Given the description of an element on the screen output the (x, y) to click on. 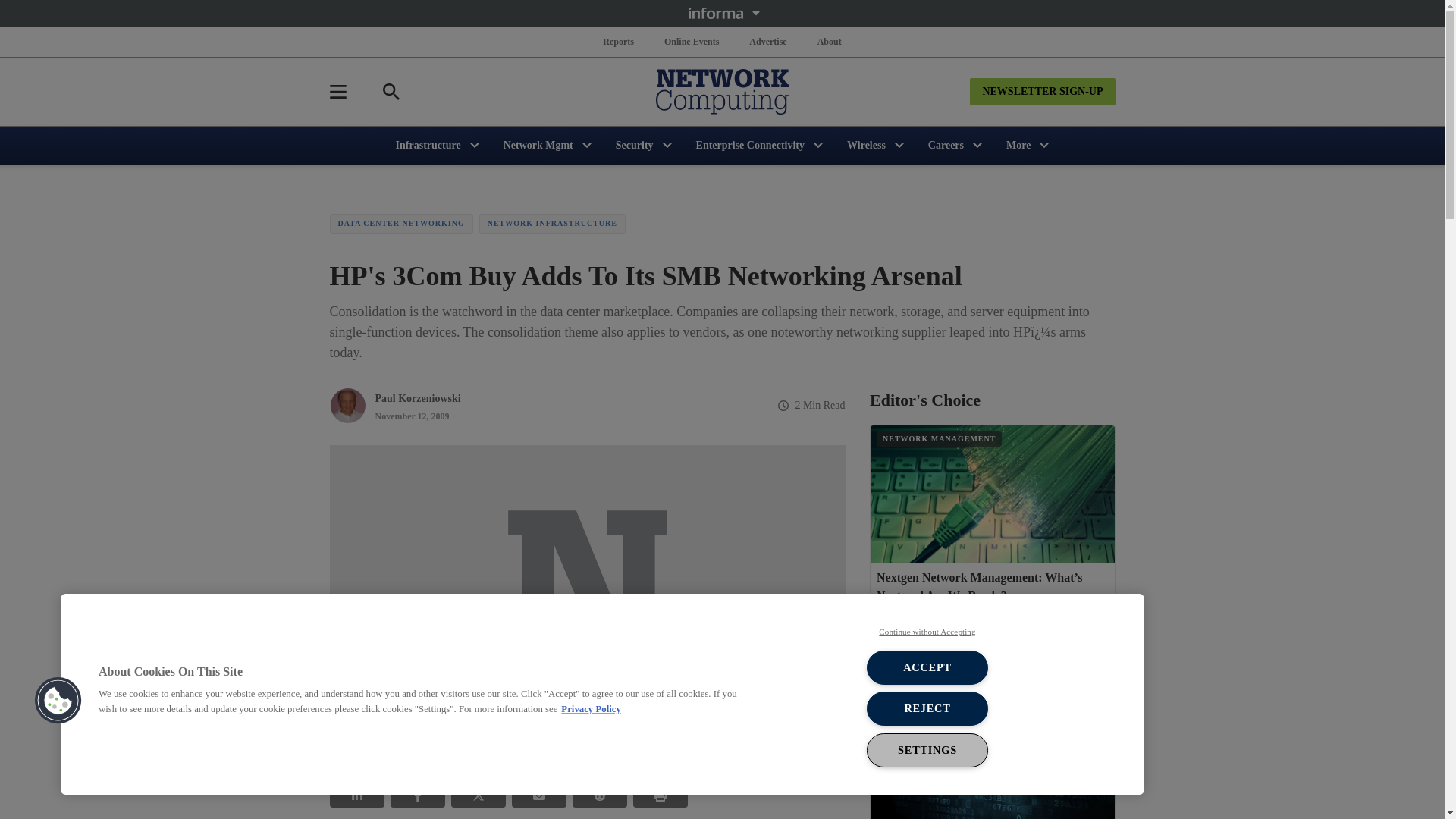
Advertise (767, 41)
NEWSLETTER SIGN-UP (1042, 90)
Picture of Paul Korzeniowski (347, 405)
Cookies Button (57, 700)
About (828, 41)
Network Computing Logo (722, 91)
Reports (618, 41)
Online Events (691, 41)
